Given the description of an element on the screen output the (x, y) to click on. 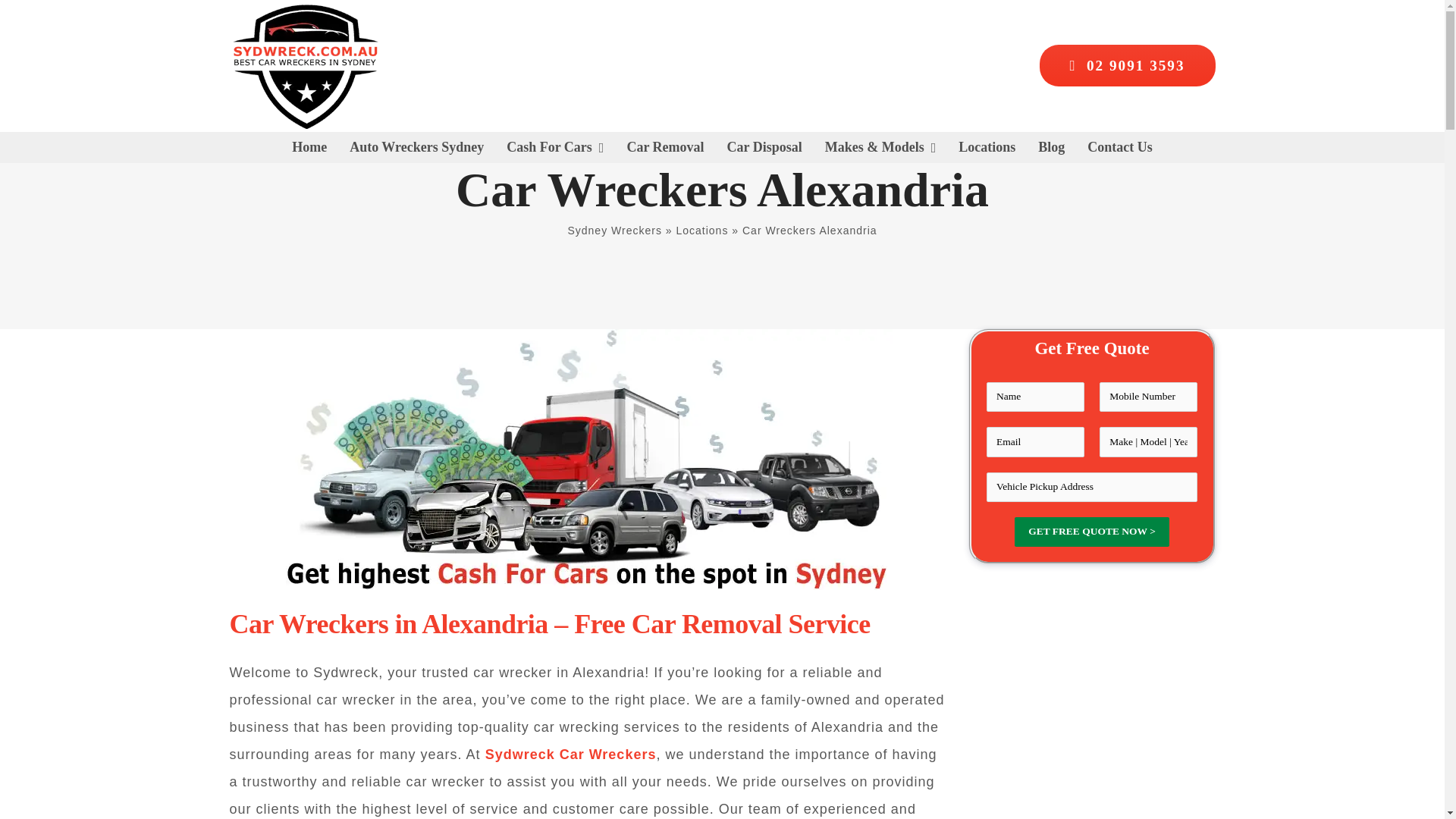
Cash For Cars (555, 146)
Car Disposal (764, 146)
Car Removal (664, 146)
Auto Wreckers Sydney (416, 146)
Home (309, 146)
02 9091 3593 (1127, 65)
